Given the description of an element on the screen output the (x, y) to click on. 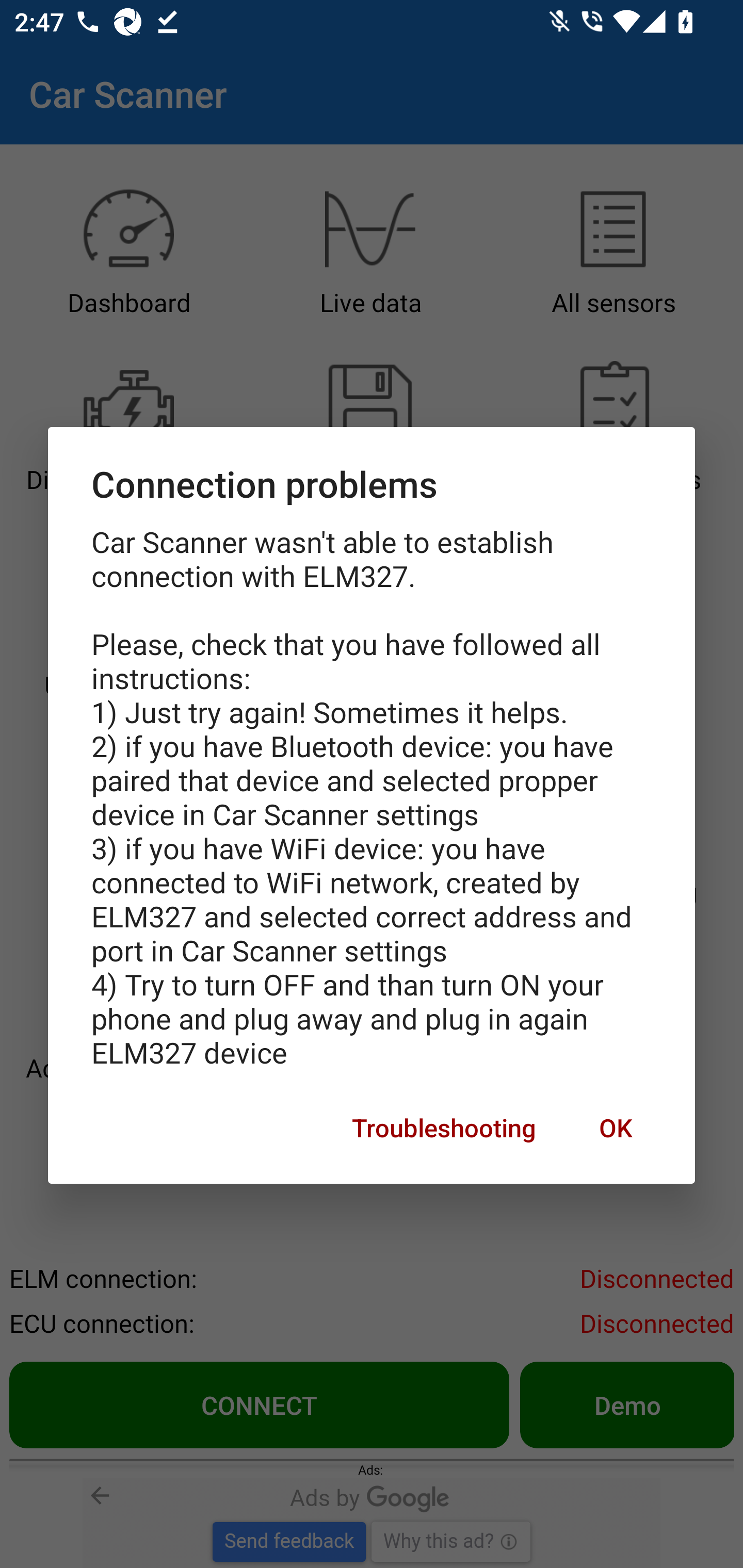
Troubleshooting (443, 1127)
OK (615, 1127)
